Given the description of an element on the screen output the (x, y) to click on. 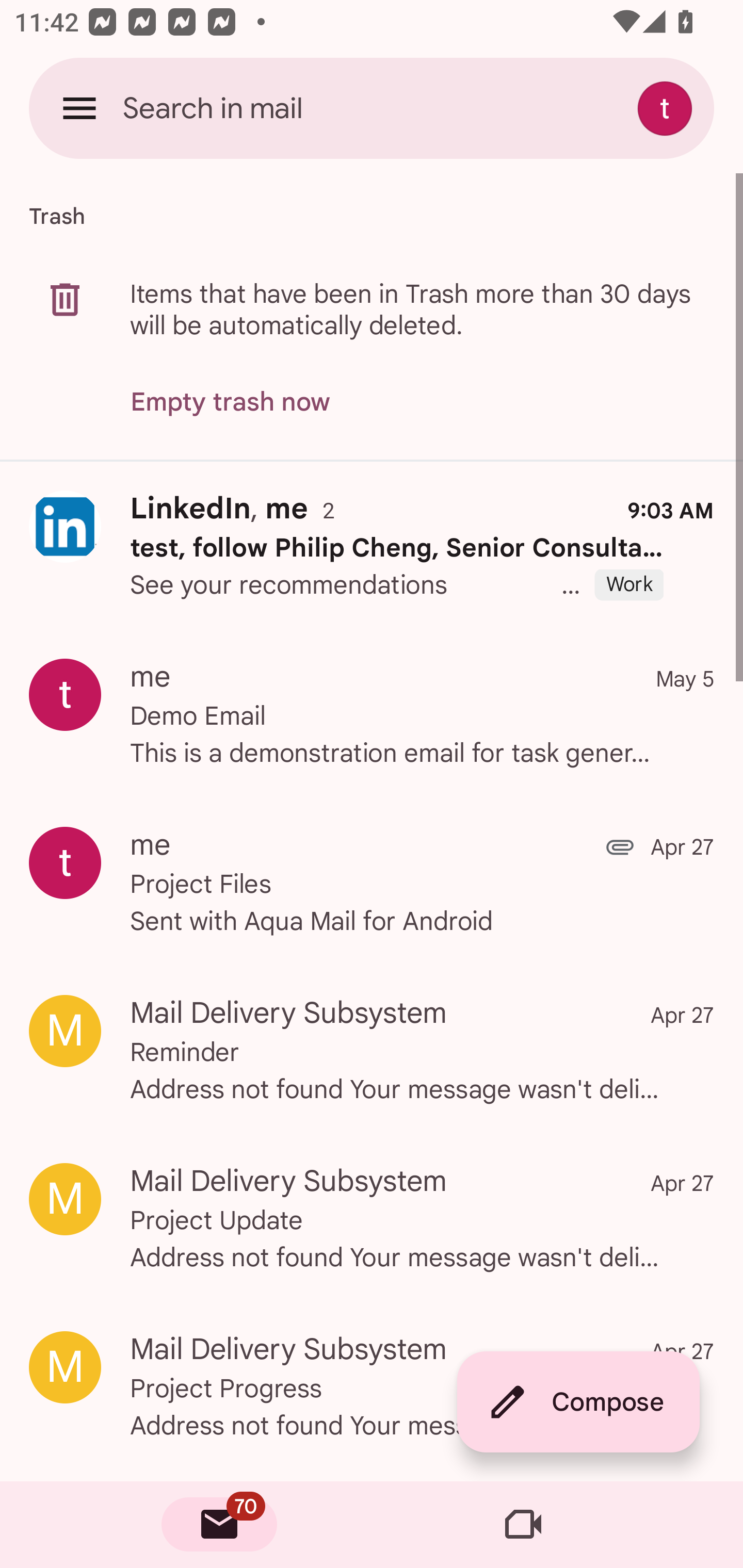
Open navigation drawer (79, 108)
Empty trash now (229, 402)
Compose (577, 1401)
Meet (523, 1524)
